Given the description of an element on the screen output the (x, y) to click on. 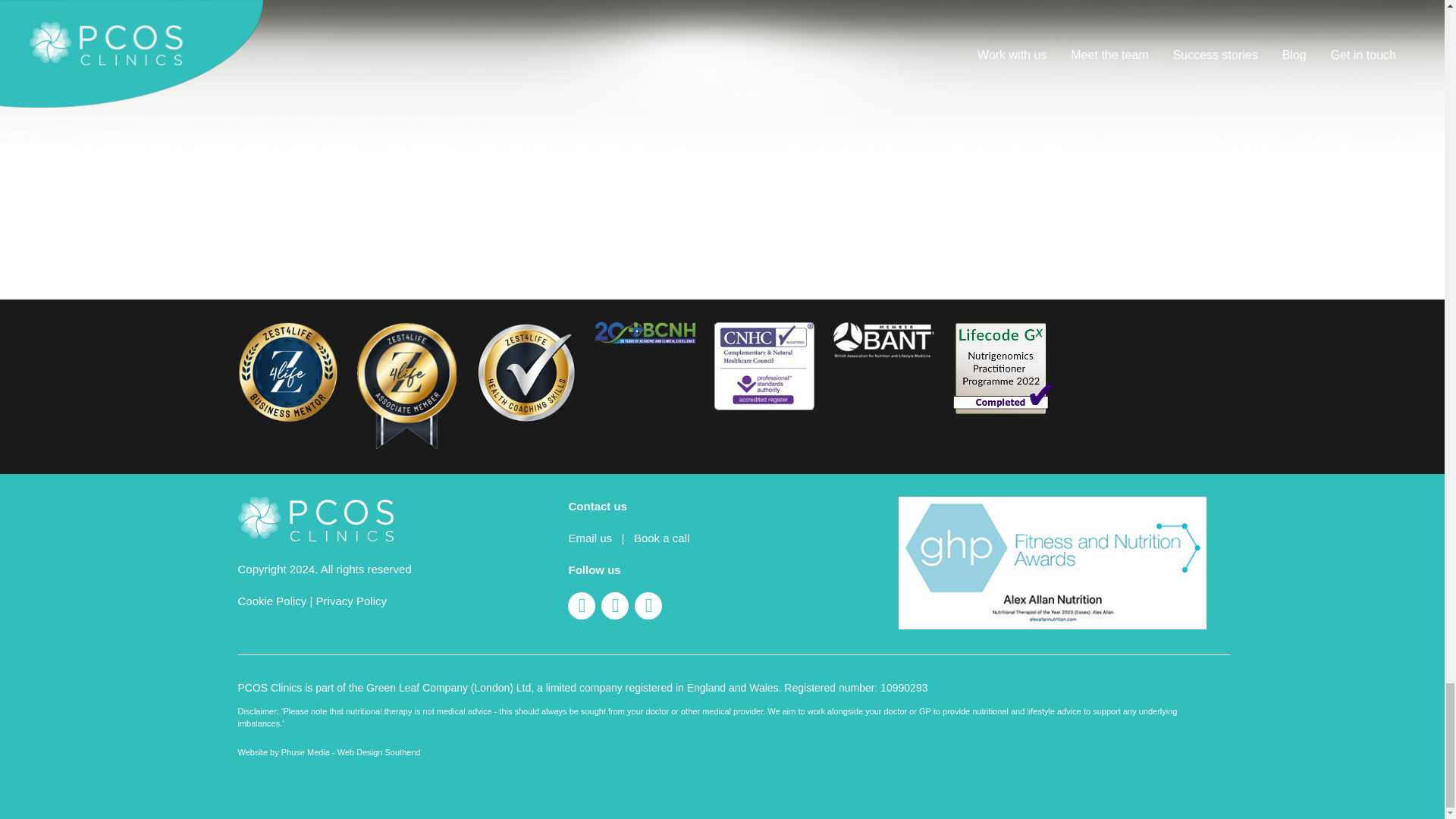
Cookie Policy (272, 600)
Facebook (617, 607)
Instagram (651, 607)
Privacy Policy (351, 600)
LinkedIn (584, 607)
